Given the description of an element on the screen output the (x, y) to click on. 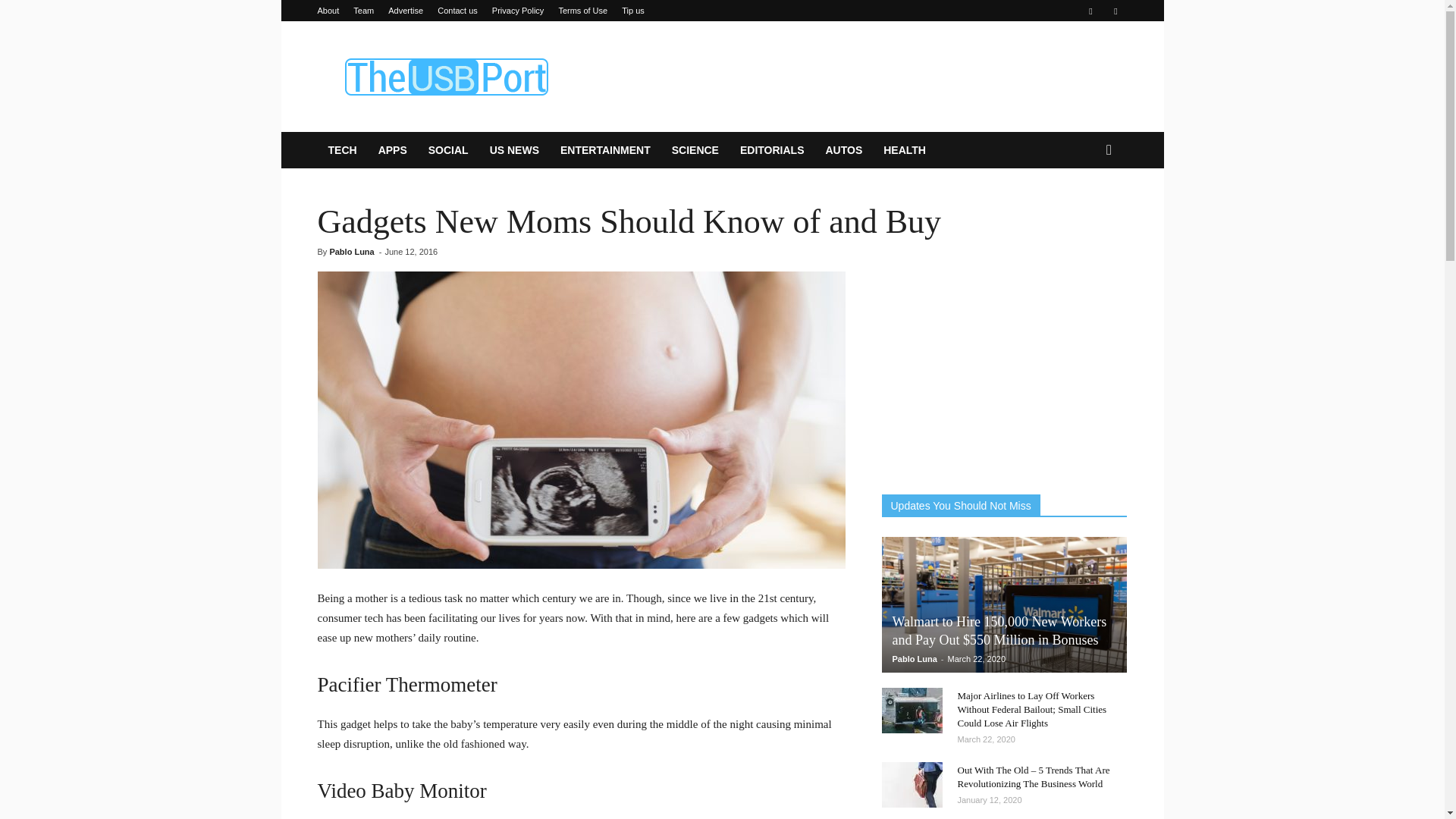
TECH (341, 149)
Terms of Use (582, 10)
US NEWS (514, 149)
ENTERTAINMENT (605, 149)
AUTOS (842, 149)
About (328, 10)
Tip us (633, 10)
Twitter (1114, 10)
Team (363, 10)
Advertisement (850, 76)
SOCIAL (448, 149)
Facebook (1090, 10)
The USB Port (445, 76)
APPS (392, 149)
